Given the description of an element on the screen output the (x, y) to click on. 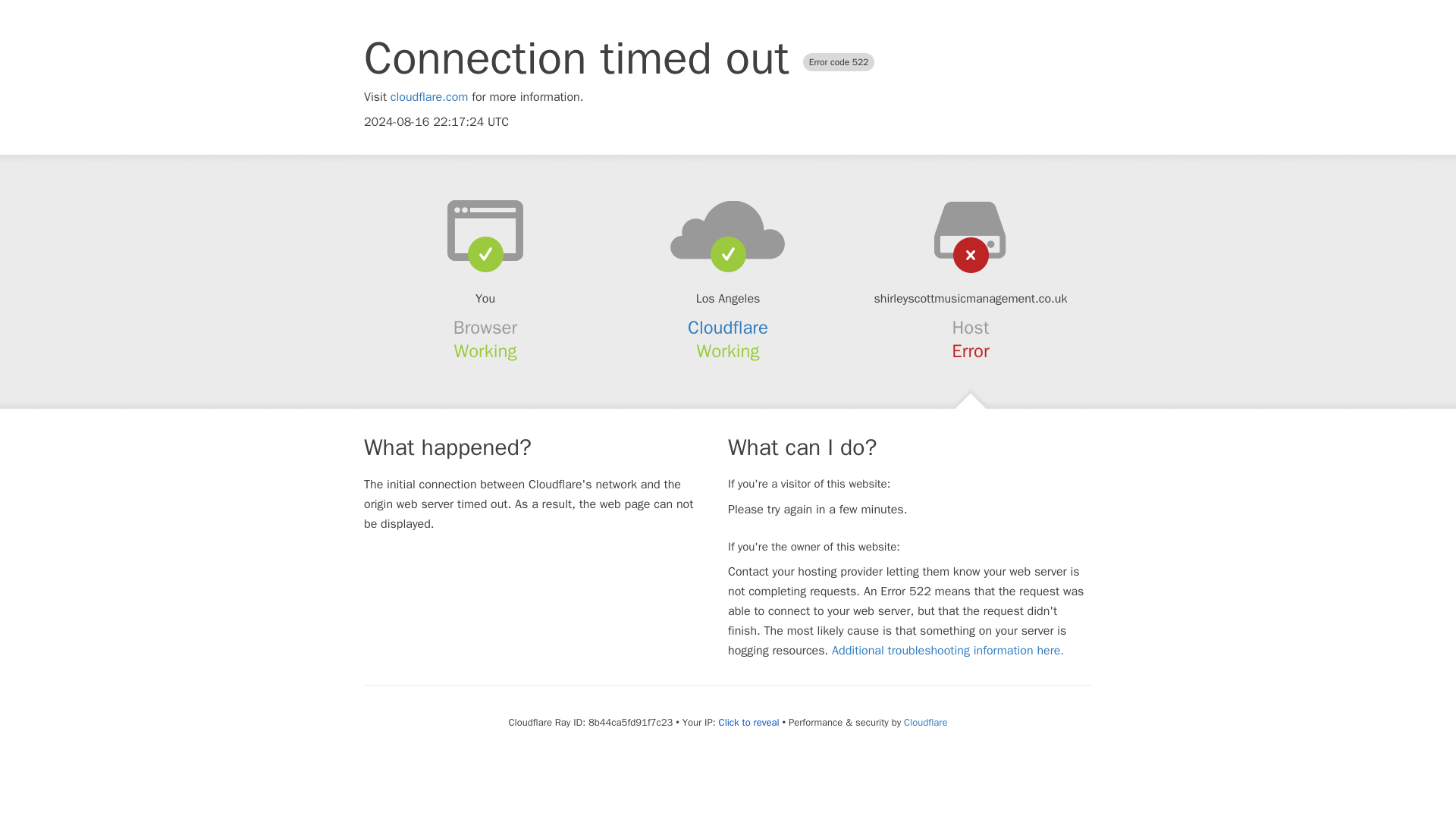
Cloudflare (727, 327)
Cloudflare (925, 721)
cloudflare.com (429, 96)
Additional troubleshooting information here. (947, 650)
Click to reveal (748, 722)
